Given the description of an element on the screen output the (x, y) to click on. 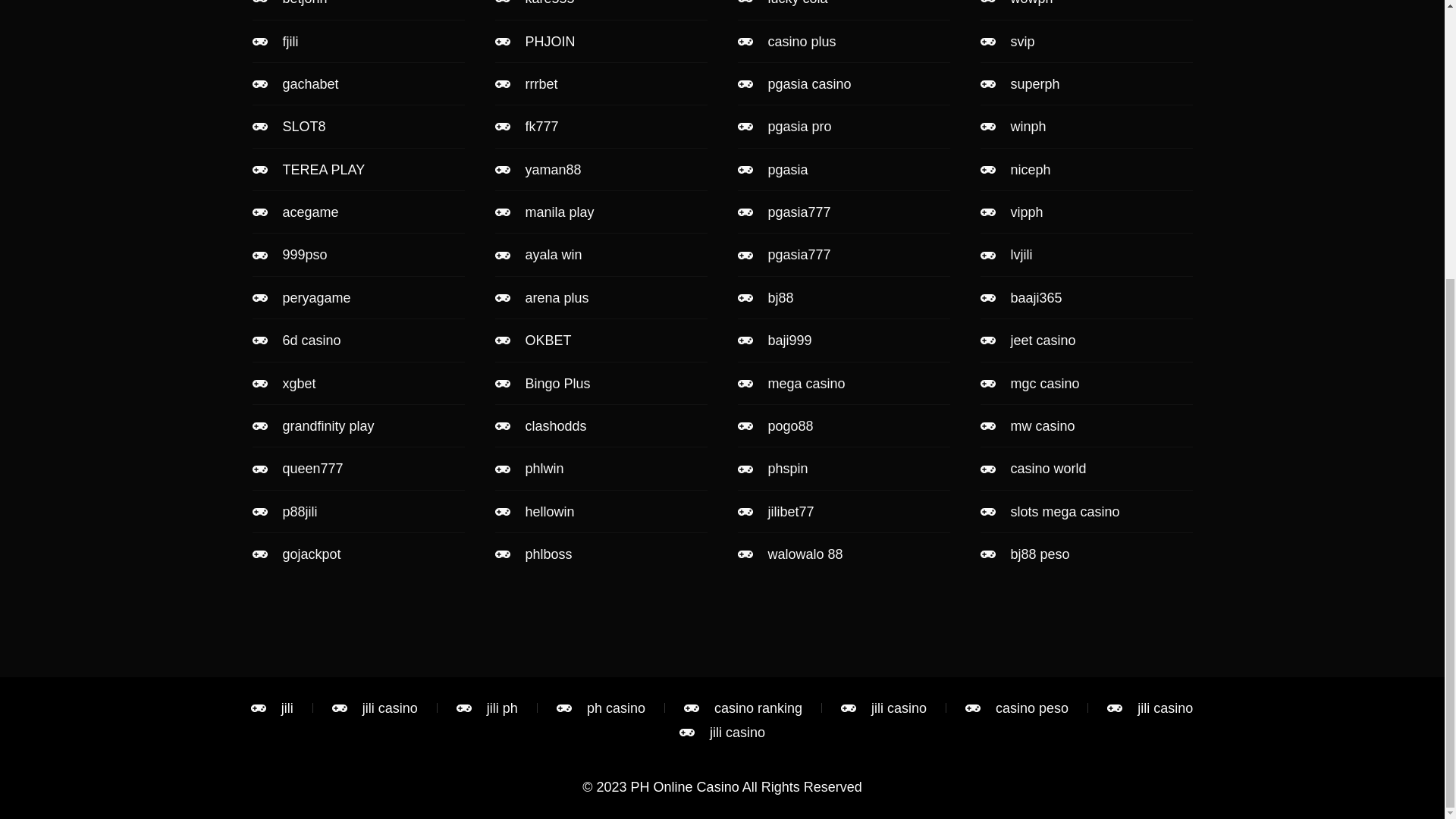
peryagame (357, 297)
OKBET (600, 340)
xgbet (357, 383)
SLOT8 (357, 126)
Bingo Plus (600, 383)
999pso (357, 254)
grandfinity play (357, 426)
hellowin (600, 511)
betjohn (357, 5)
gojackpot (357, 554)
fjili (357, 41)
pgasia casino (842, 84)
manila play (600, 211)
TEREA PLAY (357, 169)
p88jili (357, 511)
